Given the description of an element on the screen output the (x, y) to click on. 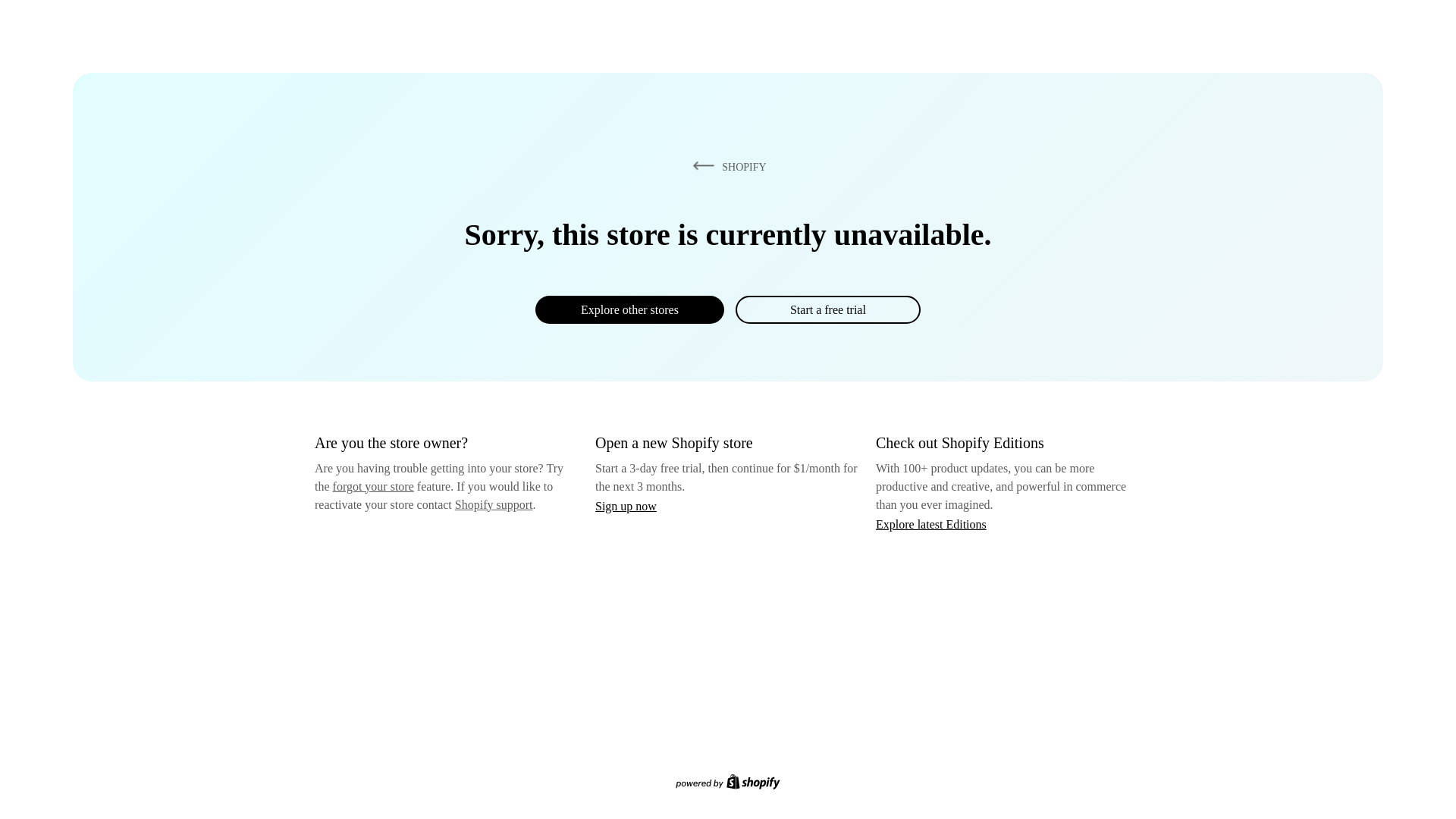
Start a free trial (827, 309)
forgot your store (373, 486)
Shopify support (493, 504)
Explore other stores (629, 309)
SHOPIFY (726, 166)
Sign up now (625, 505)
Explore latest Editions (931, 523)
